Given the description of an element on the screen output the (x, y) to click on. 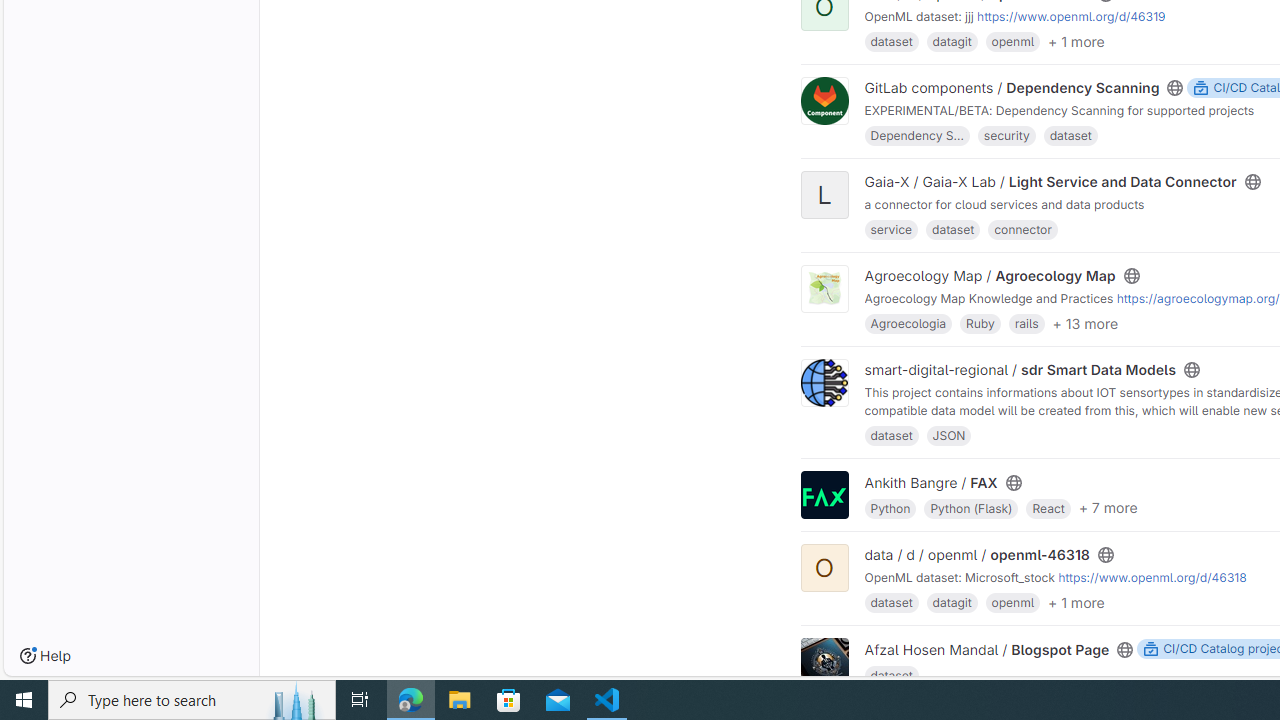
Ankith Bangre / FAX (931, 482)
Class: s16 gl-icon gl-badge-icon (1151, 649)
Help (45, 655)
https://www.openml.org/d/46318 (1152, 578)
+ 13 more (1085, 322)
https://www.openml.org/d/46319 (1071, 16)
Gaia-X / Gaia-X Lab / Light Service and Data Connector (1050, 181)
Python (890, 506)
Class: s16 (1125, 649)
Python (Flask) (971, 506)
Agroecologia (908, 323)
Ruby (980, 323)
GitLab components / Dependency Scanning (1011, 88)
security (1005, 135)
+ 7 more (1107, 507)
